Given the description of an element on the screen output the (x, y) to click on. 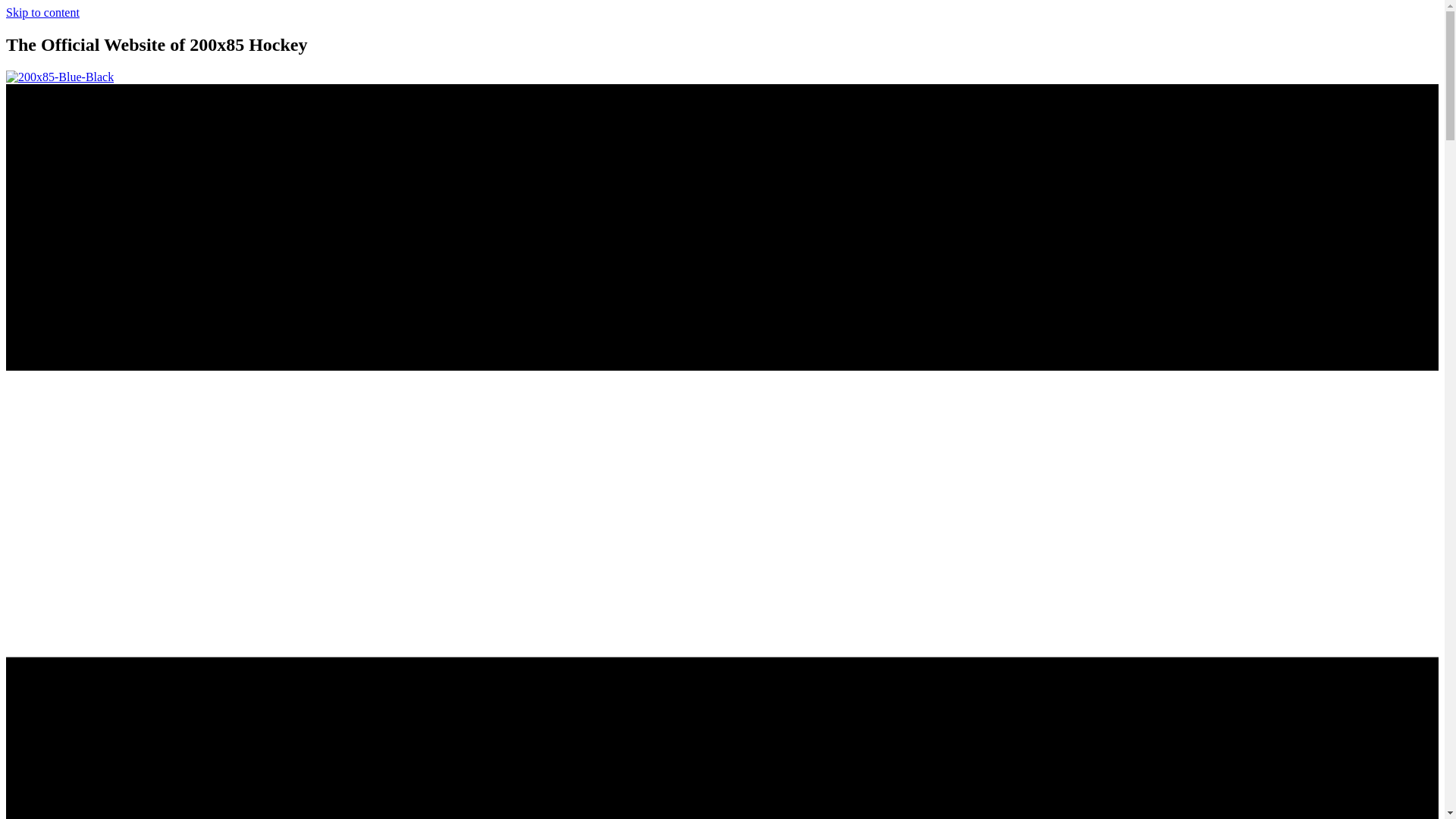
200x85-Blue-Black Element type: hover (59, 77)
Skip to content Element type: text (42, 12)
